Given the description of an element on the screen output the (x, y) to click on. 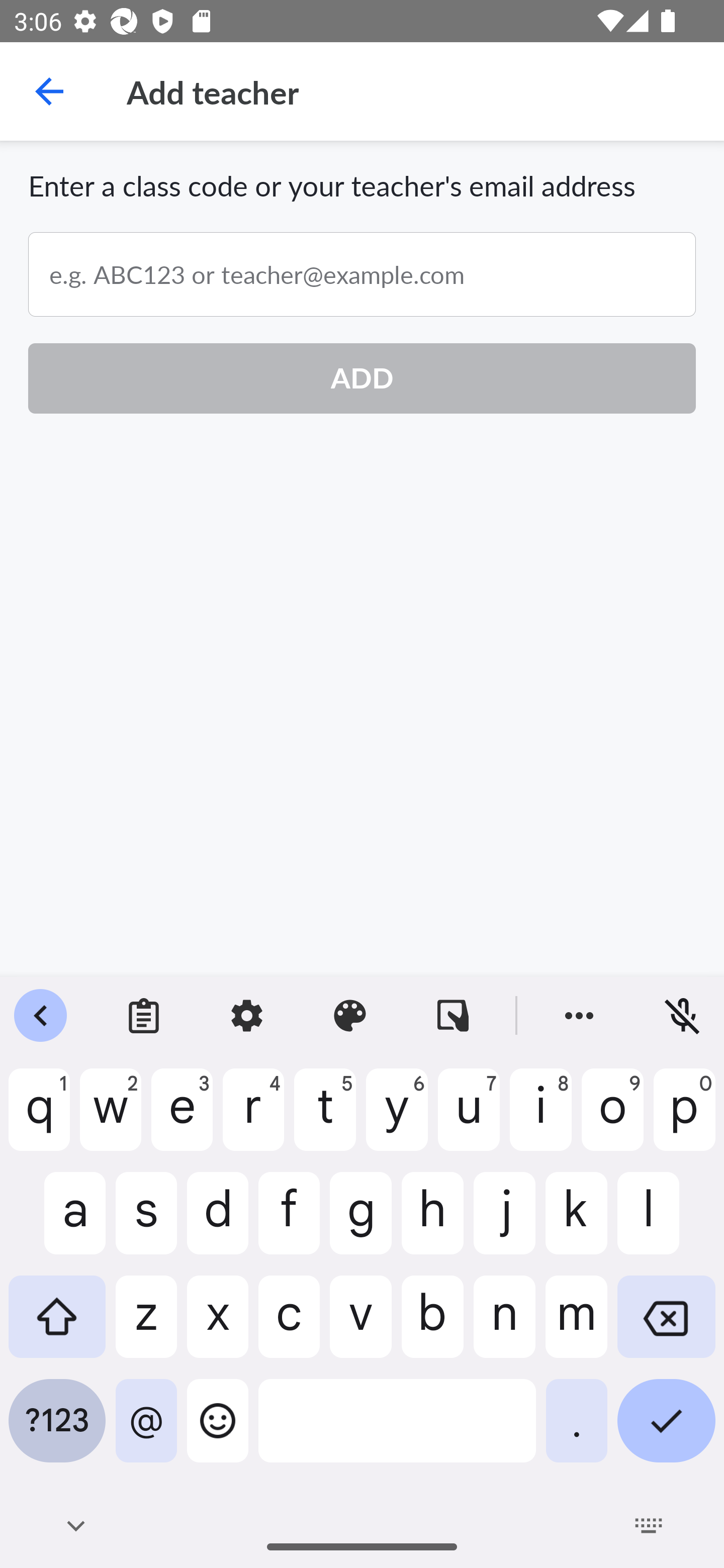
Navigate up (49, 91)
e.g. ABC123 or teacher@example.com (361, 274)
ADD (361, 378)
